Given the description of an element on the screen output the (x, y) to click on. 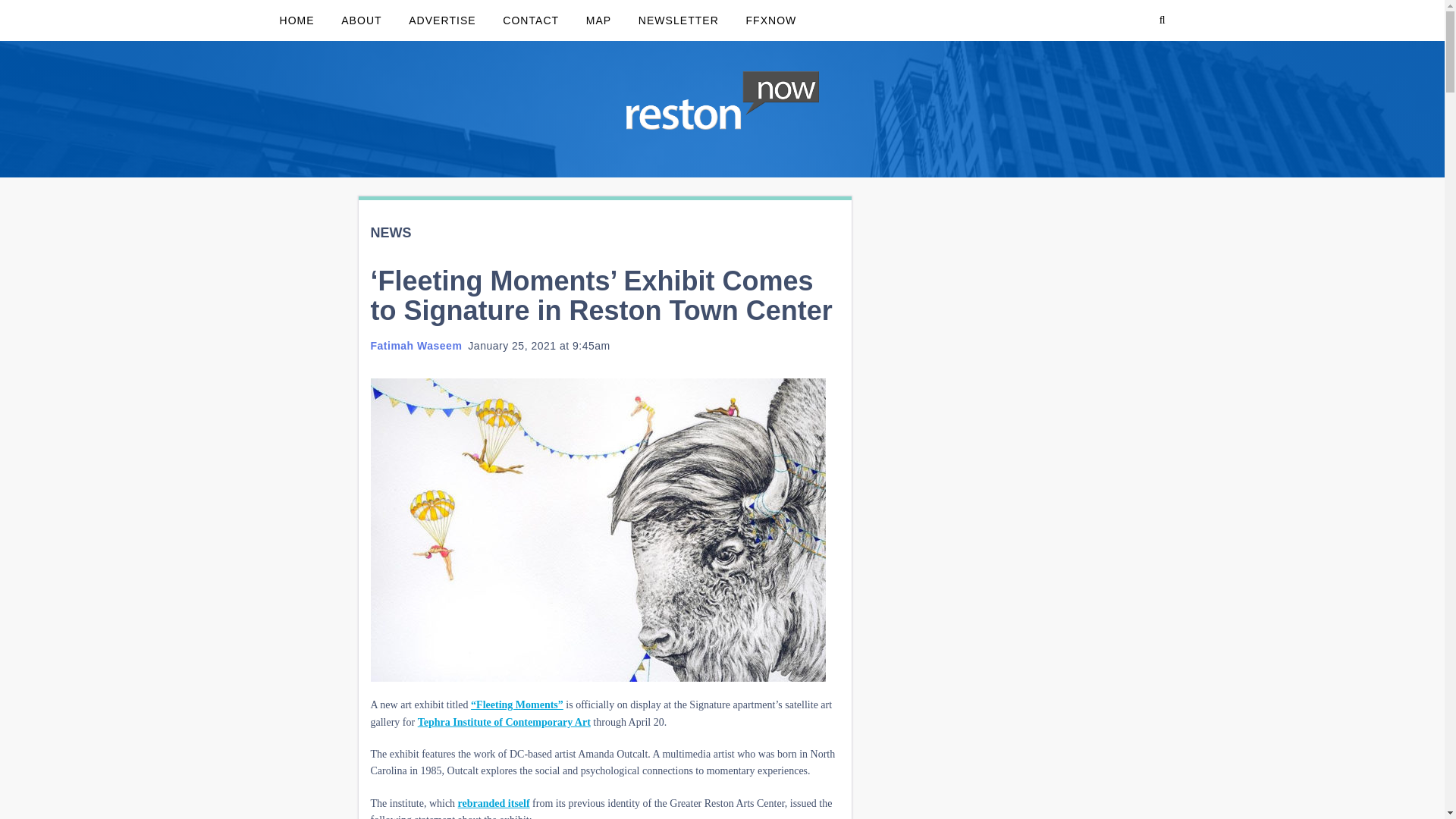
CONTACT (530, 20)
FFXNOW (770, 20)
Posts by Fatimah Waseem (415, 345)
HOME (296, 20)
Tephra Institute of Contemporary Art (504, 722)
Fatimah Waseem (415, 345)
NEWS (389, 232)
MAP (598, 20)
ABOUT (361, 20)
